Given the description of an element on the screen output the (x, y) to click on. 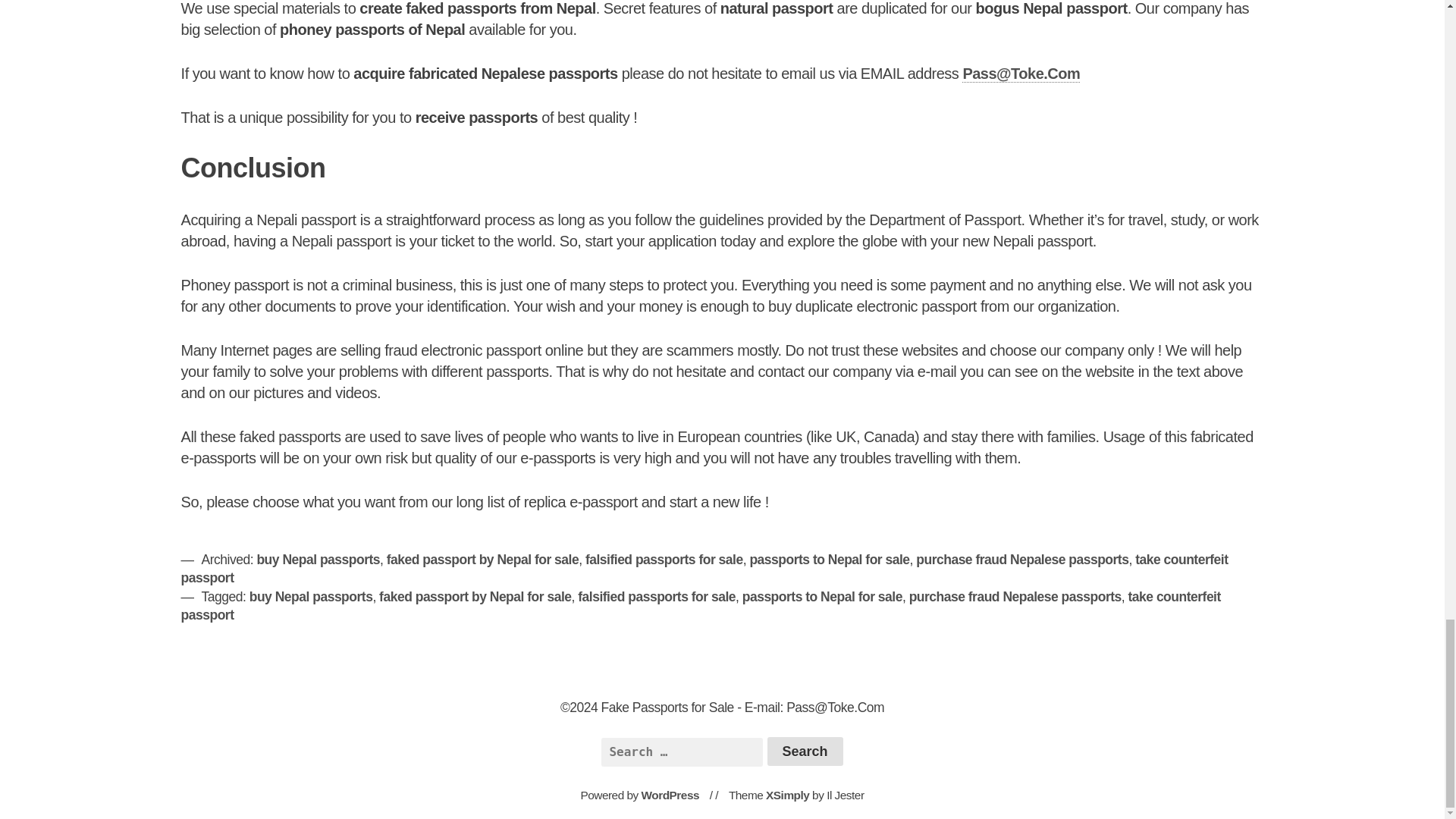
Search (805, 751)
Search (805, 751)
